Given the description of an element on the screen output the (x, y) to click on. 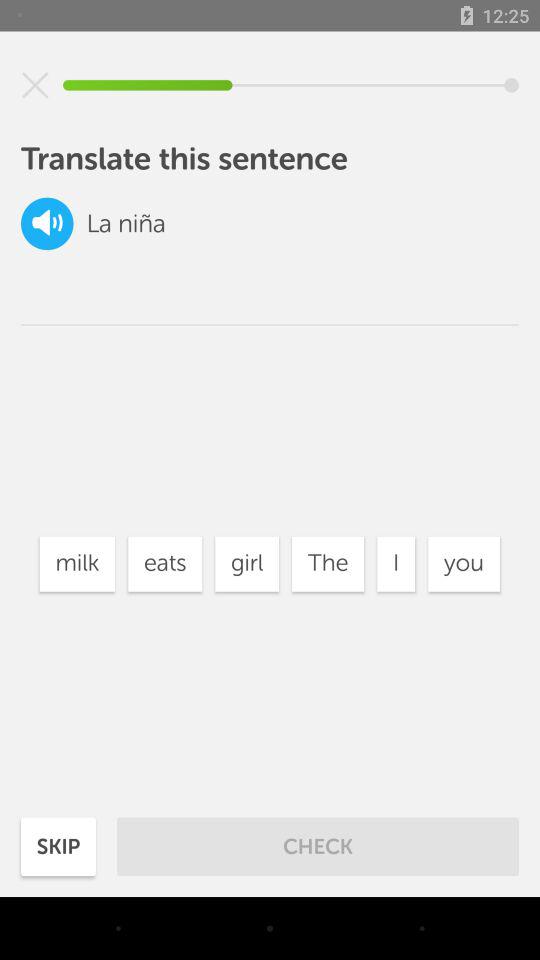
select icon next to the milk item (165, 563)
